Given the description of an element on the screen output the (x, y) to click on. 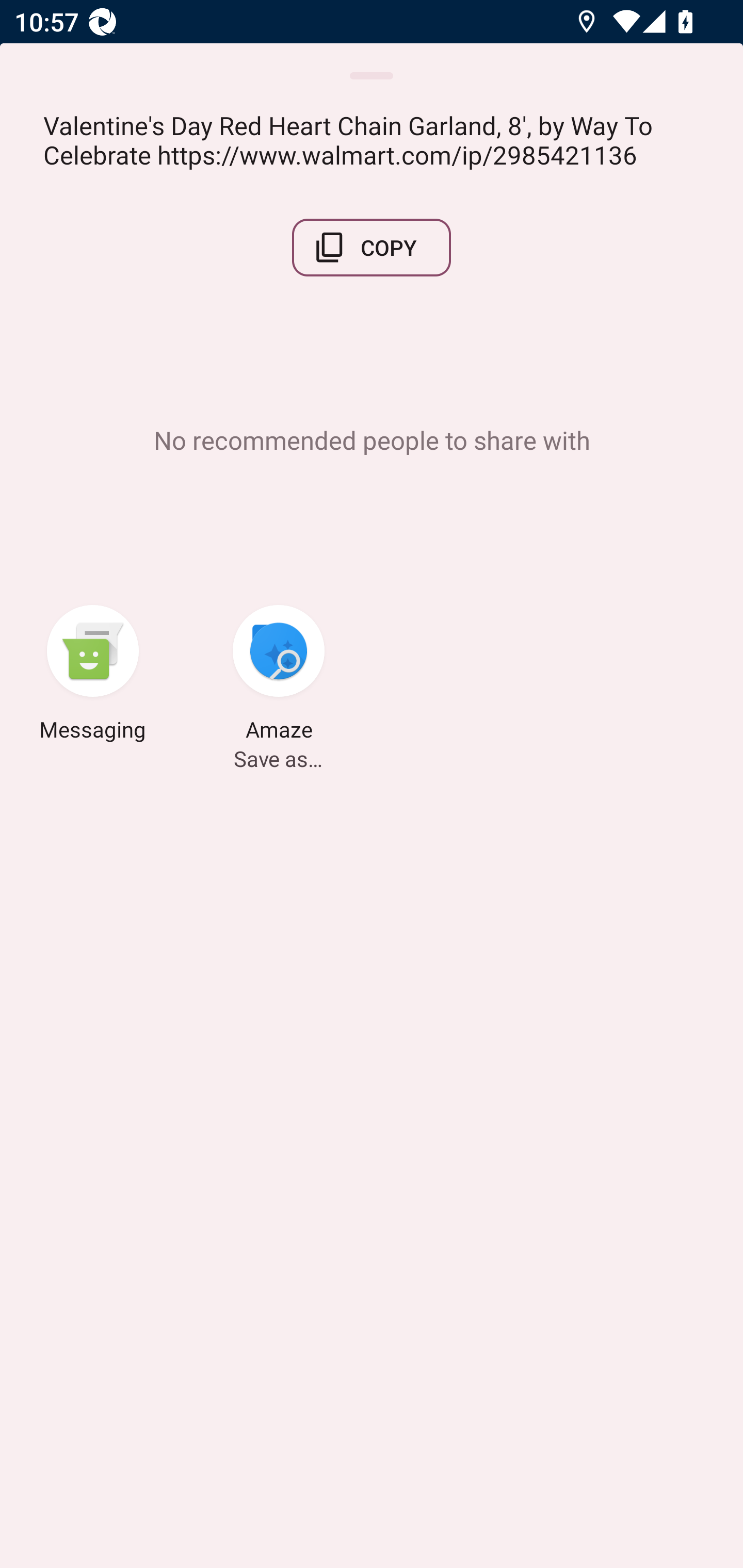
COPY (371, 247)
Messaging (92, 675)
Amaze Save as… (278, 675)
